Given the description of an element on the screen output the (x, y) to click on. 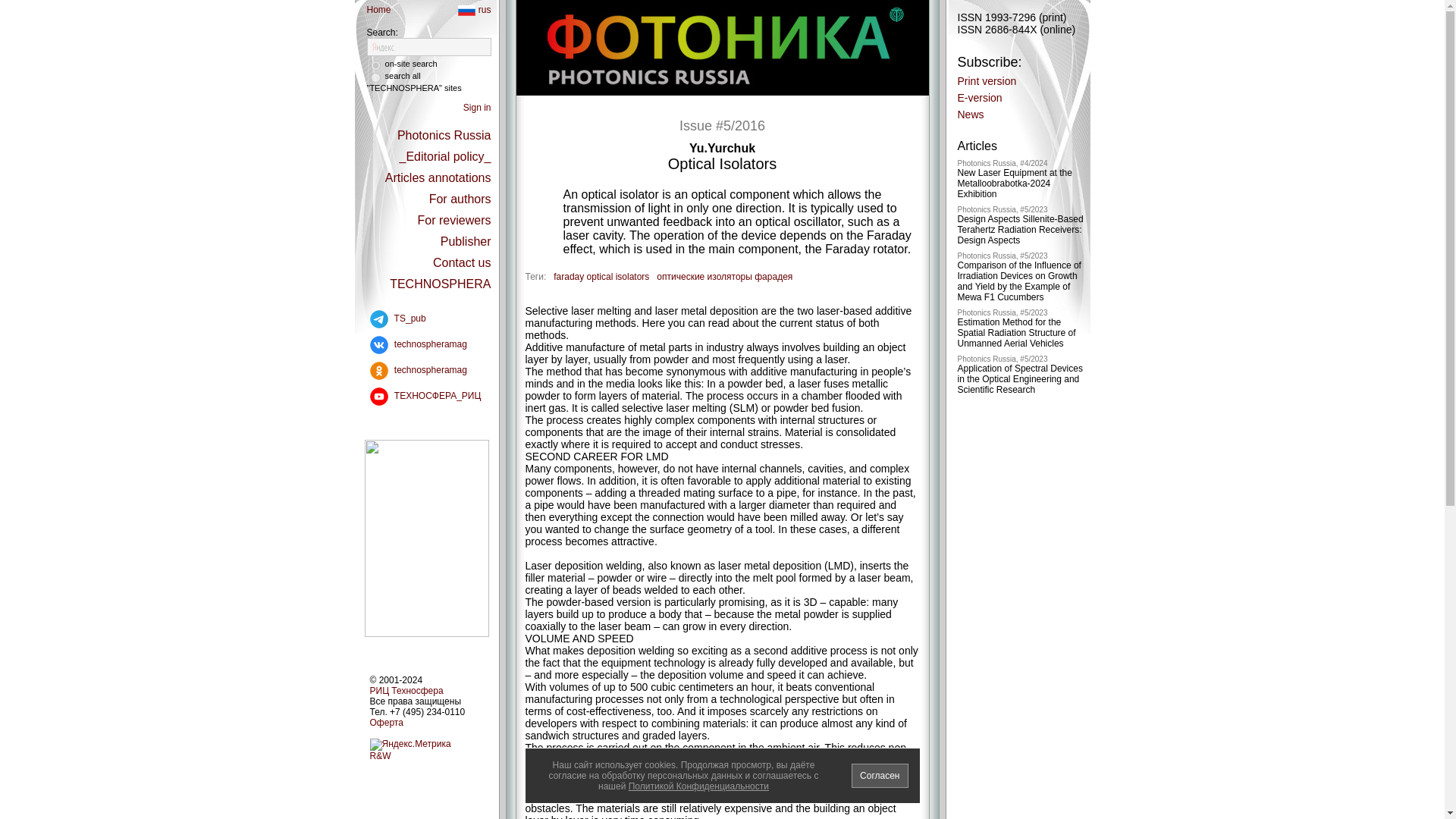
For reviewers (454, 219)
Sign in (477, 107)
rus (475, 9)
For authors (460, 198)
E-version (978, 97)
2 (374, 65)
News (970, 114)
technospheramag (415, 344)
